Given the description of an element on the screen output the (x, y) to click on. 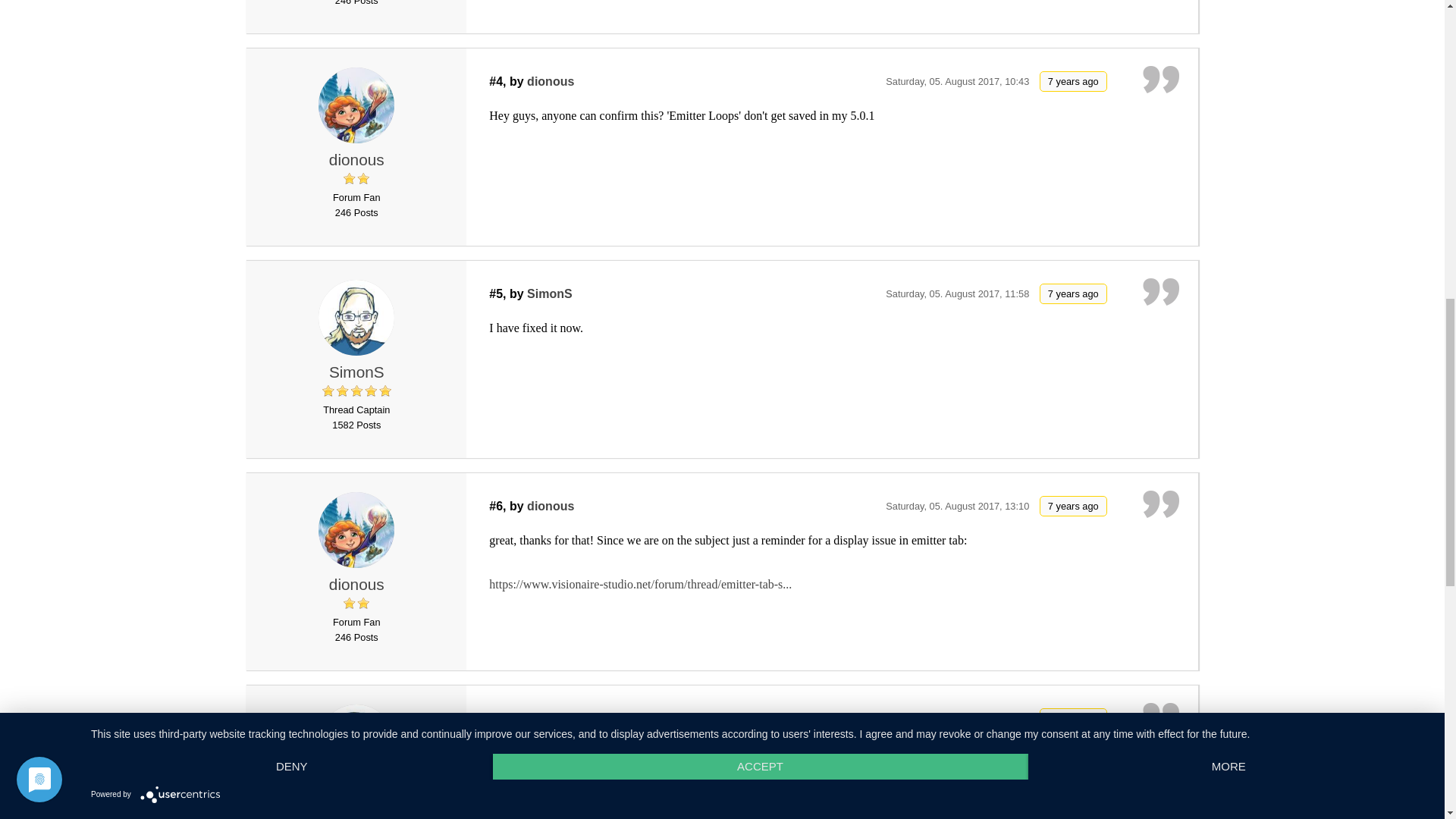
dionous (356, 159)
Quote (1160, 80)
dionous (356, 105)
dionous (550, 81)
